Given the description of an element on the screen output the (x, y) to click on. 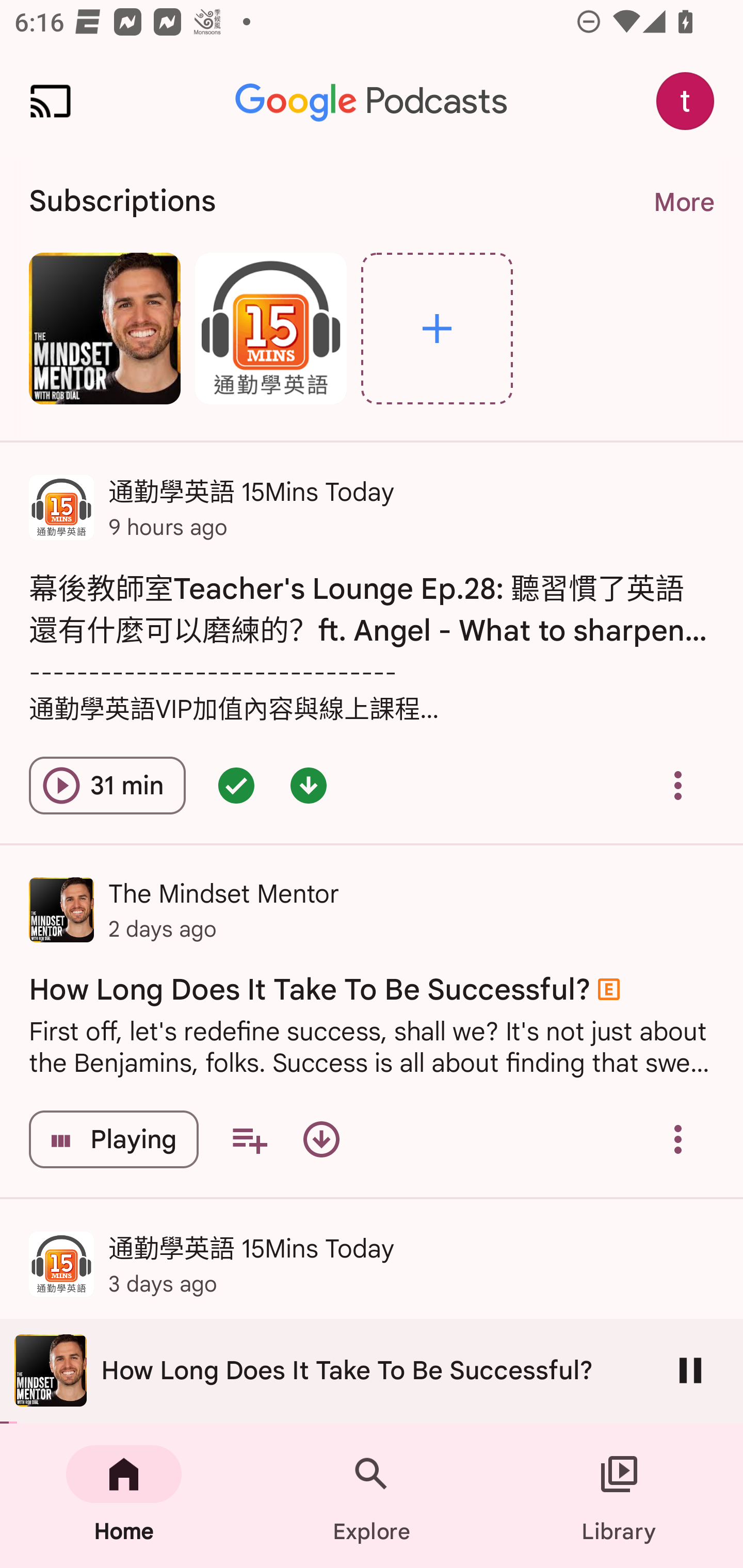
Cast. Disconnected (50, 101)
More More. Navigate to subscriptions page. (683, 202)
The Mindset Mentor (104, 328)
通勤學英語 15Mins Today (270, 328)
Explore (436, 328)
Episode queued - double tap for options (235, 785)
Episode downloaded - double tap for options (308, 785)
Overflow menu (677, 785)
Add to your queue (249, 1139)
Download episode (321, 1139)
Overflow menu (677, 1139)
Pause (690, 1370)
Explore (371, 1495)
Library (619, 1495)
